Given the description of an element on the screen output the (x, y) to click on. 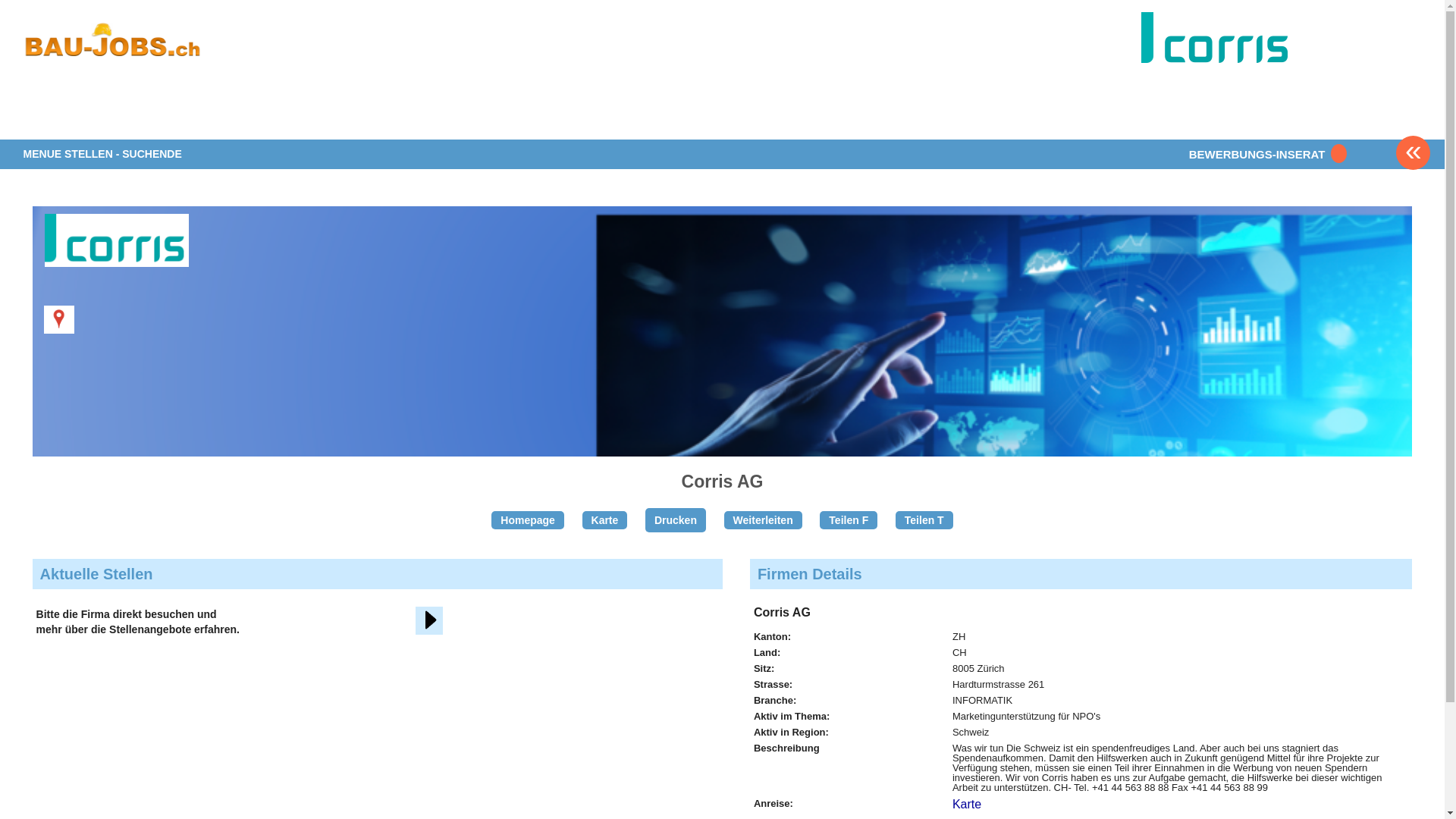
Homepage Element type: text (527, 520)
Teilen F Element type: text (848, 520)
MENUE STELLEN - SUCHENDE Element type: text (102, 154)
Karte Element type: text (966, 803)
BEWERBUNGS-INSERAT
  Element type: text (1265, 154)
Karte Element type: text (604, 520)
Drucken Element type: text (675, 520)
Weiterleiten Element type: text (763, 520)
www.StellenAnzeiger.ch Element type: text (112, 55)
Teilen T Element type: text (924, 520)
